Given the description of an element on the screen output the (x, y) to click on. 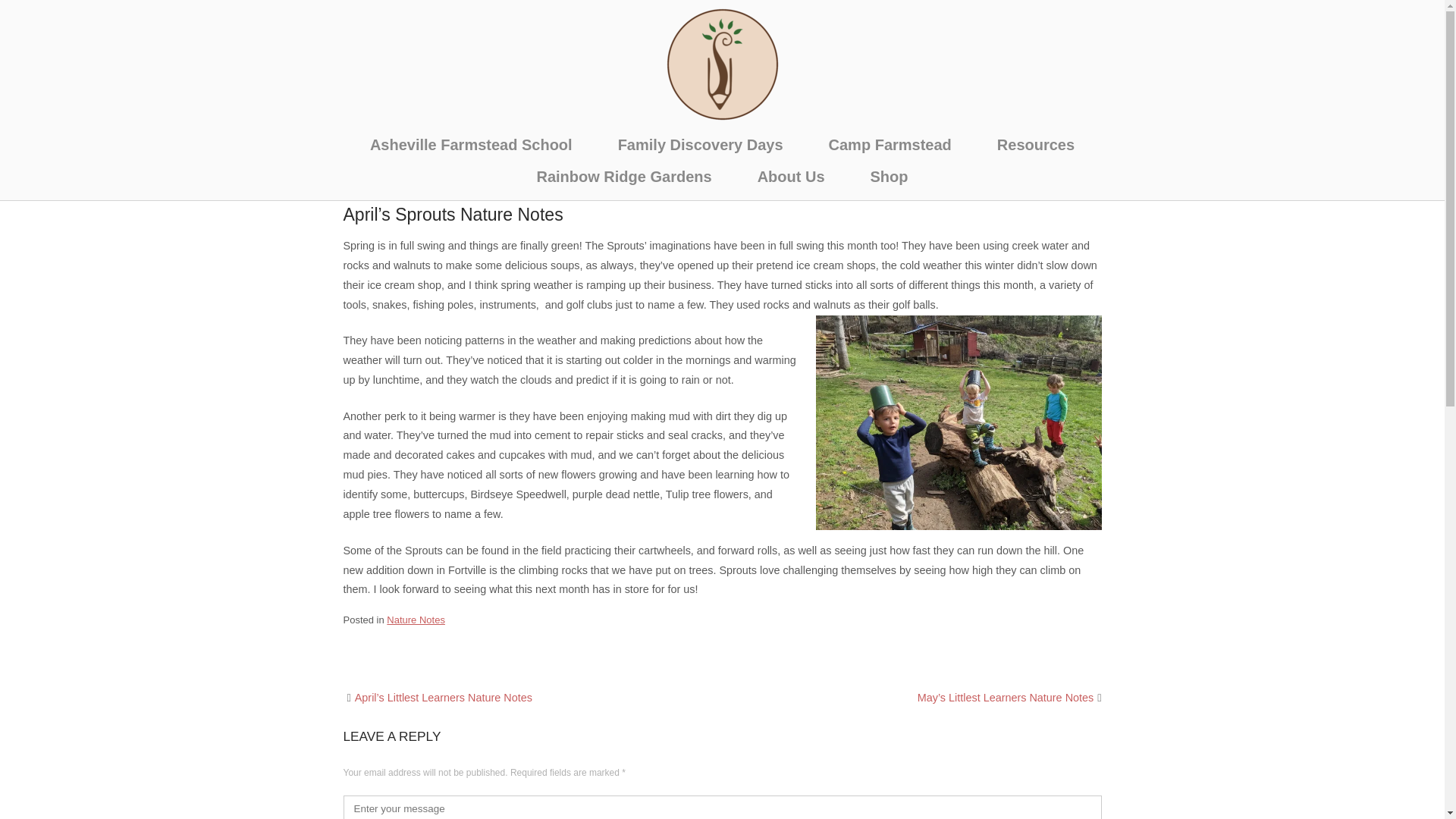
Family Discovery Days (700, 144)
Shop (889, 176)
Camp Farmstead (890, 144)
Resources (1035, 144)
Asheville Farmstead School (471, 144)
Home (721, 63)
Nature Notes (416, 619)
About Us (791, 176)
Rainbow Ridge Gardens (623, 176)
